Given the description of an element on the screen output the (x, y) to click on. 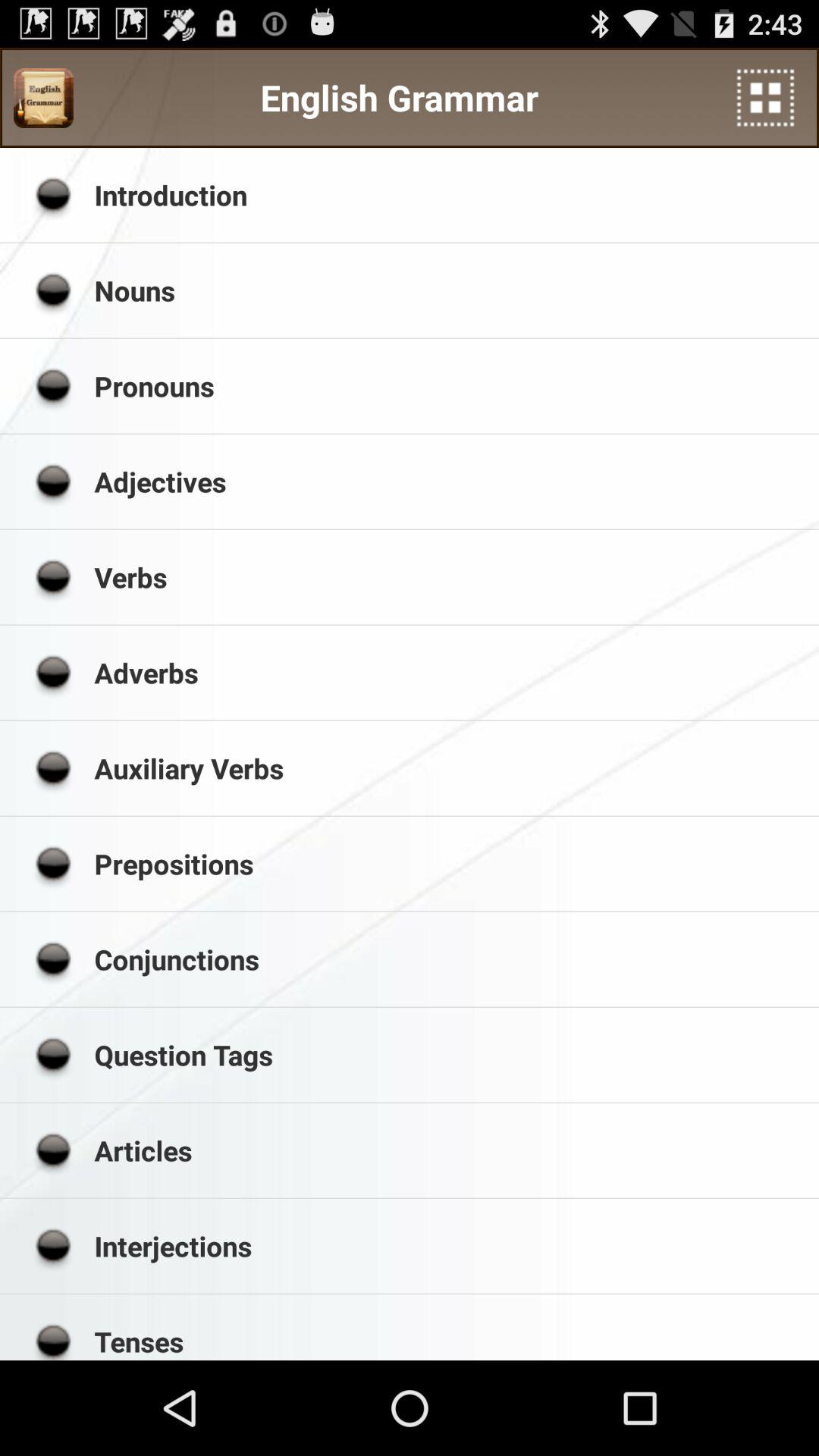
click icon below the introduction item (451, 290)
